Given the description of an element on the screen output the (x, y) to click on. 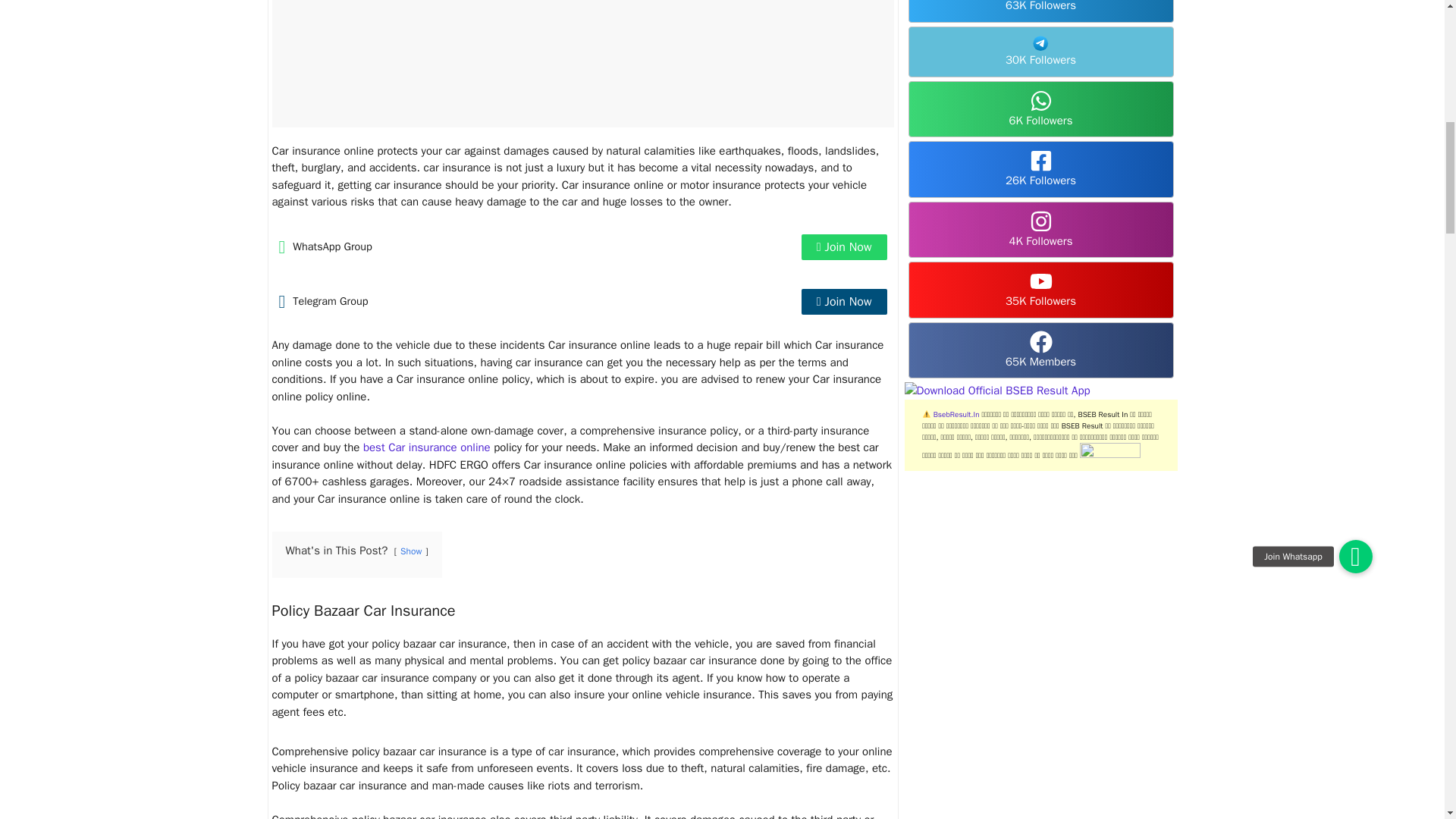
Join Now (844, 247)
Join Now (844, 301)
best Car insurance online (426, 447)
Show (411, 551)
Advertisement (581, 63)
